Given the description of an element on the screen output the (x, y) to click on. 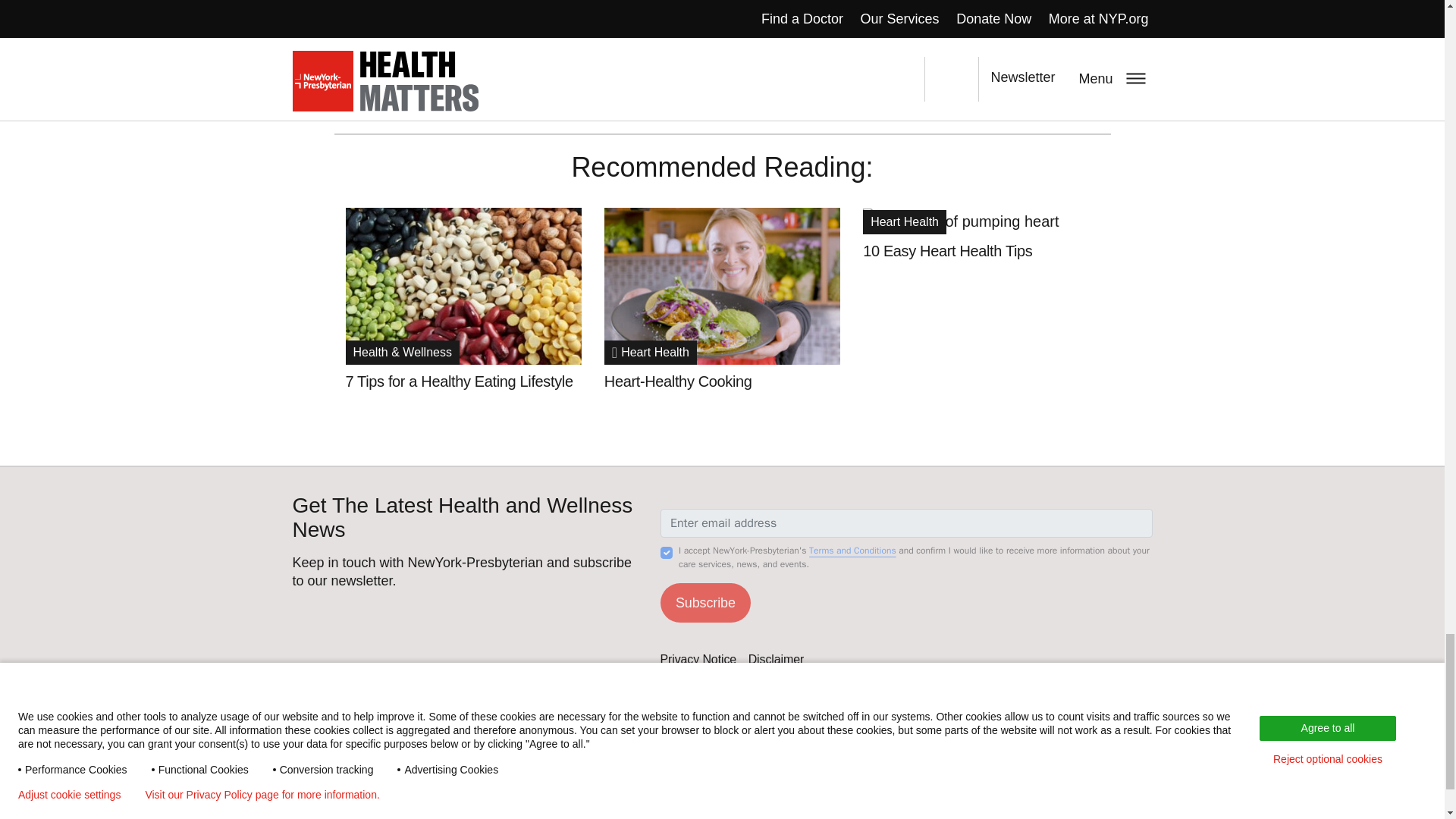
Visit nyp.org (401, 799)
newsletter signup form (905, 572)
